Given the description of an element on the screen output the (x, y) to click on. 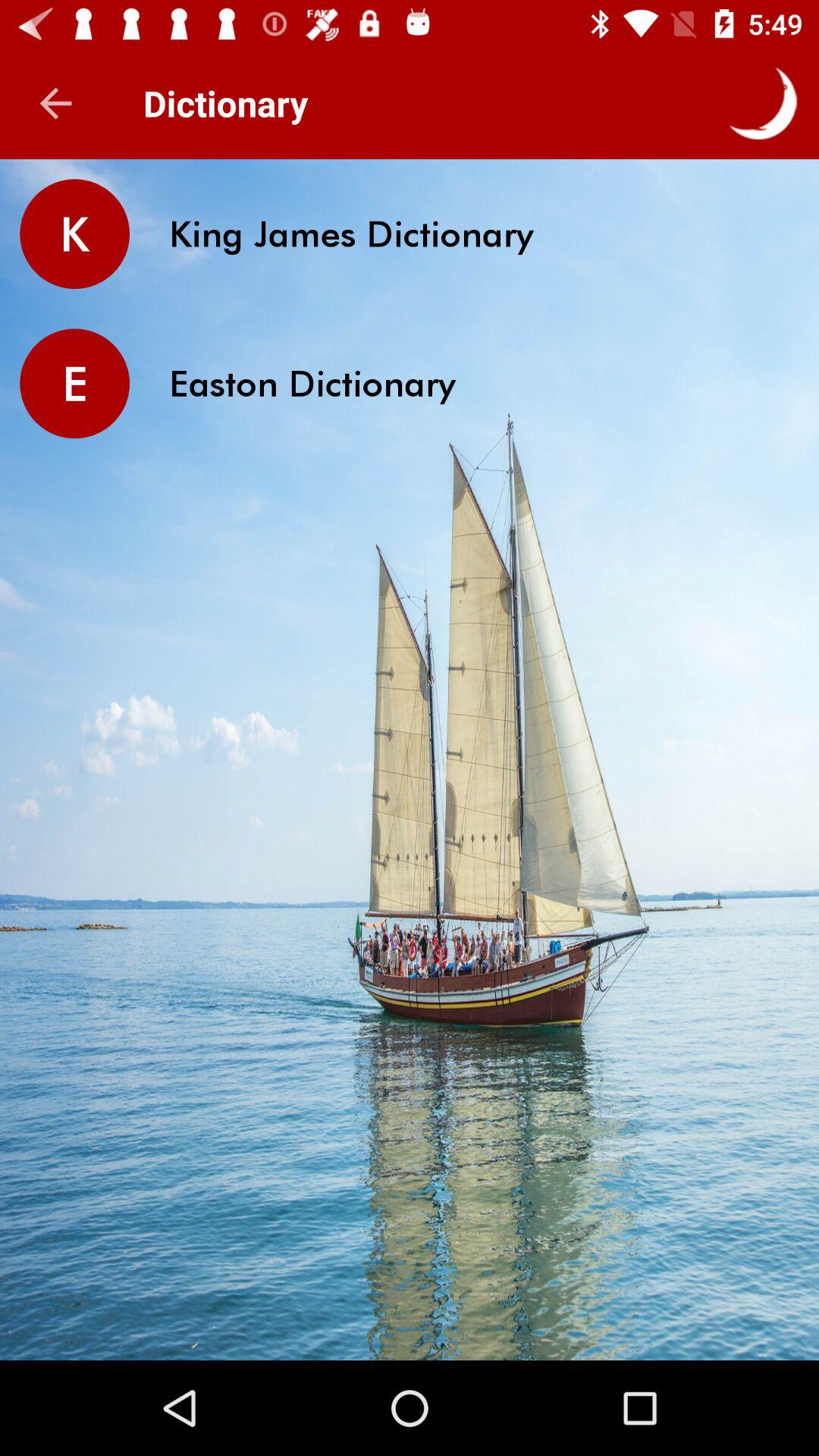
goto back (55, 103)
